Given the description of an element on the screen output the (x, y) to click on. 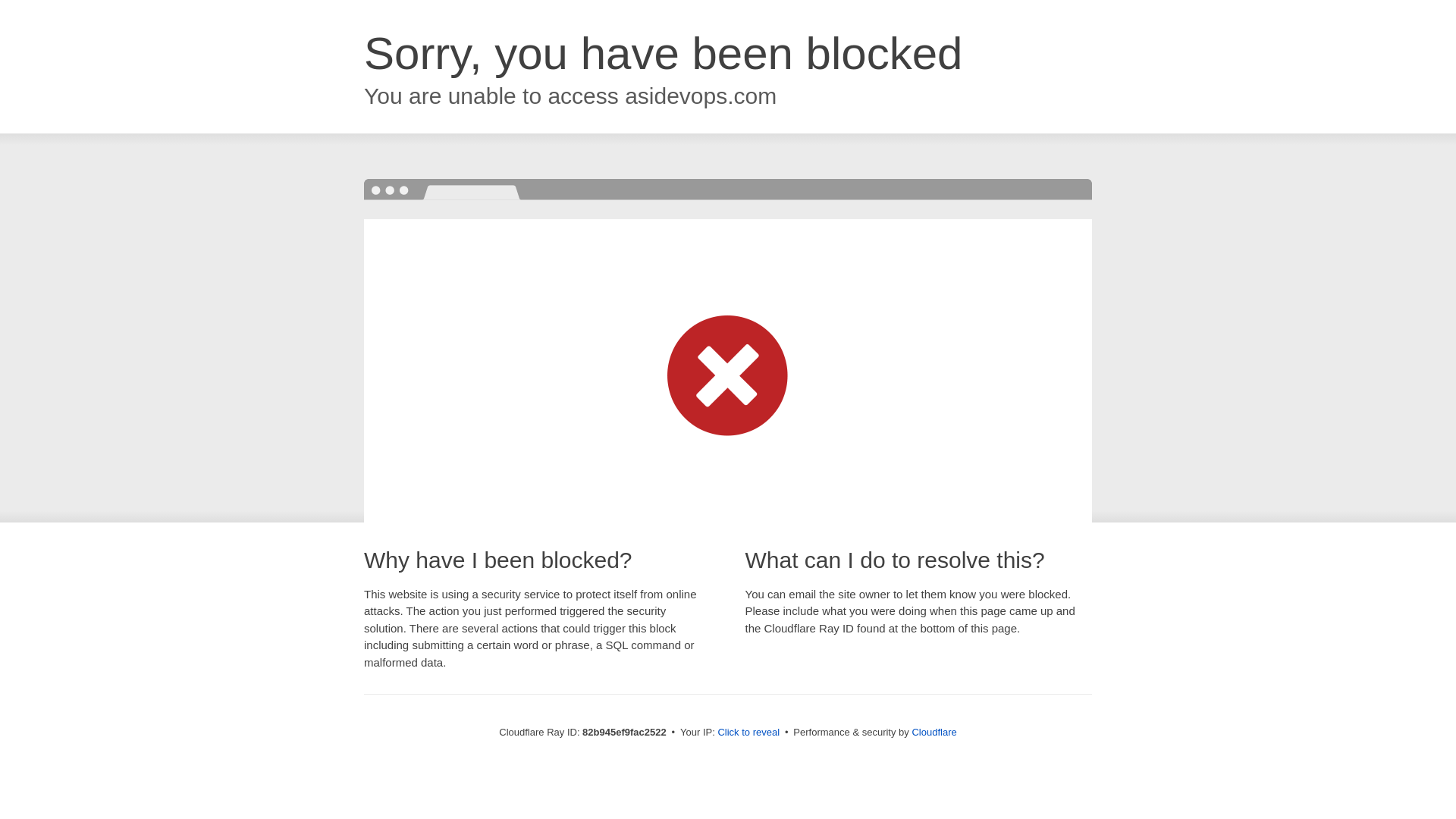
Cloudflare Element type: text (933, 731)
Click to reveal Element type: text (748, 732)
